Given the description of an element on the screen output the (x, y) to click on. 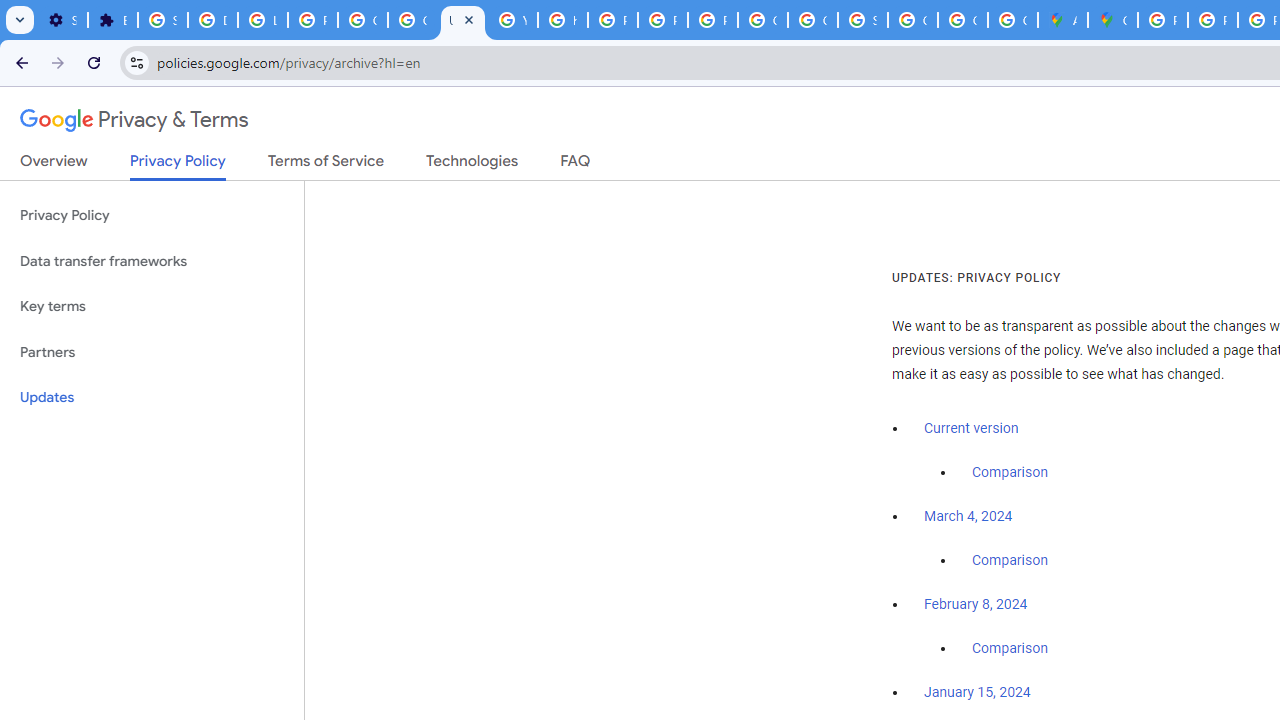
Key terms (152, 306)
Learn how to find your photos - Google Photos Help (262, 20)
Delete photos & videos - Computer - Google Photos Help (213, 20)
Policy Accountability and Transparency - Transparency Center (1162, 20)
